Given the description of an element on the screen output the (x, y) to click on. 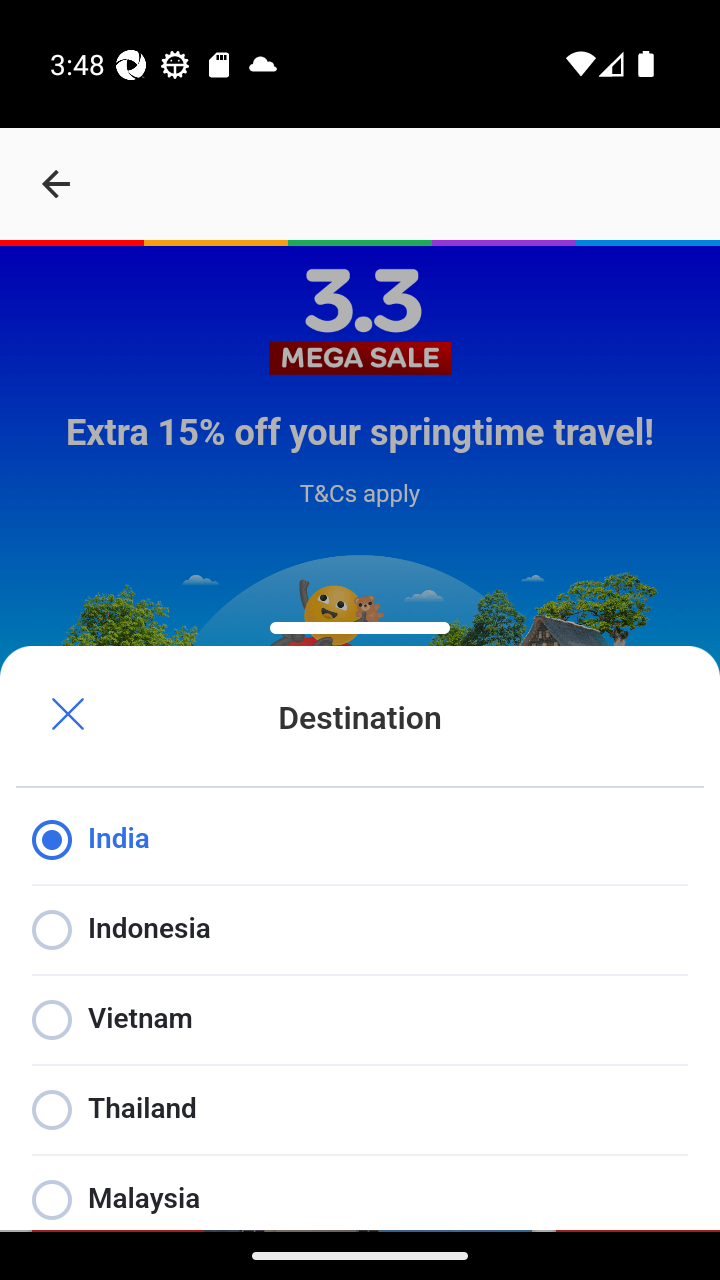
navigation_button (56, 184)
New Delhi and NCR (150, 1101)
